Given the description of an element on the screen output the (x, y) to click on. 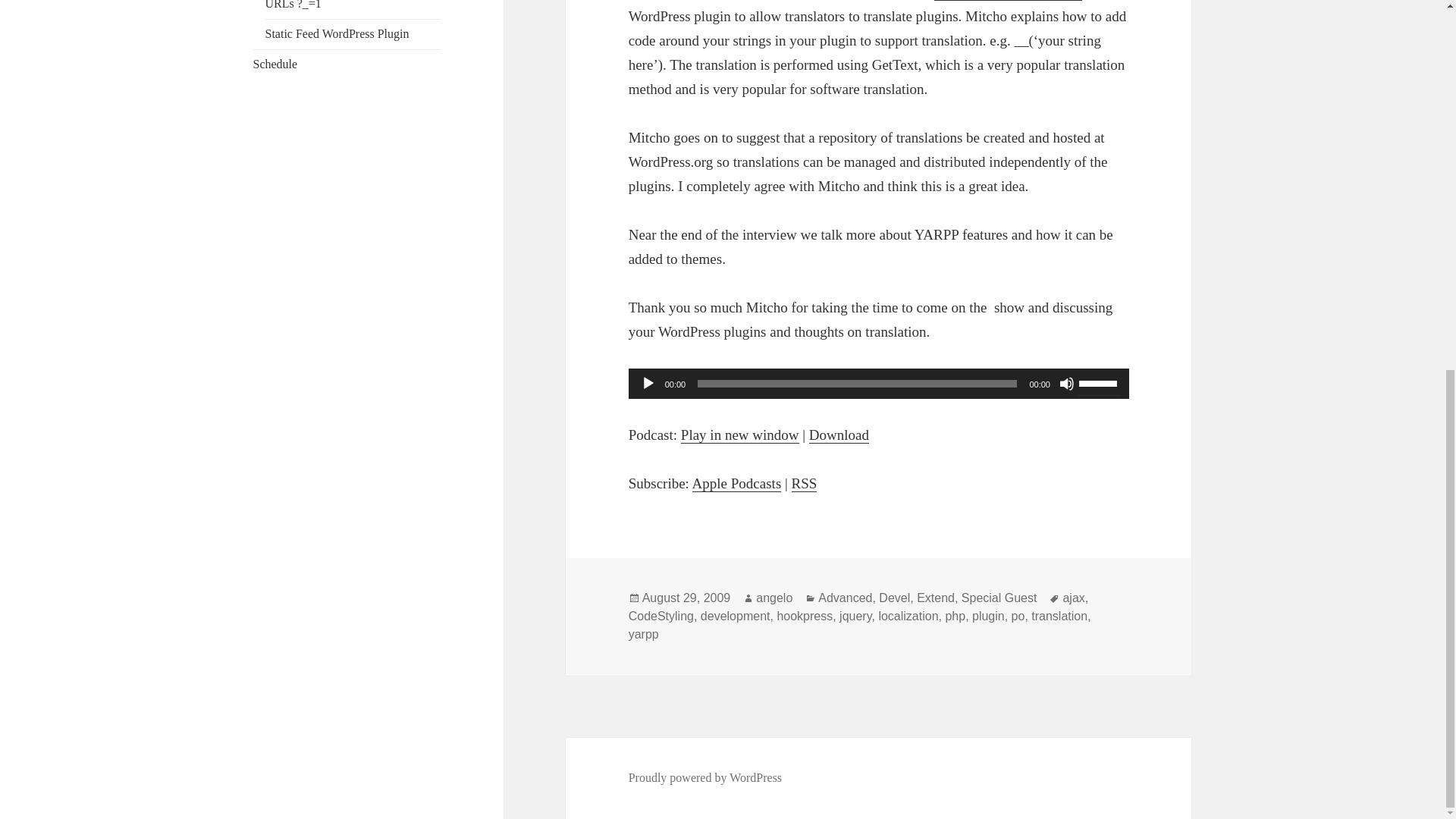
jquery (855, 616)
Mute (1066, 383)
hookpress (804, 616)
Extend (936, 598)
Static Feed WordPress Plugin (336, 33)
Subscribe via RSS (804, 483)
Schedule (275, 63)
Play in new window (740, 434)
Special Guest (998, 598)
angelo (773, 598)
Download (839, 434)
Advanced (845, 598)
Download (839, 434)
Devel (894, 598)
ajax (1073, 598)
